Given the description of an element on the screen output the (x, y) to click on. 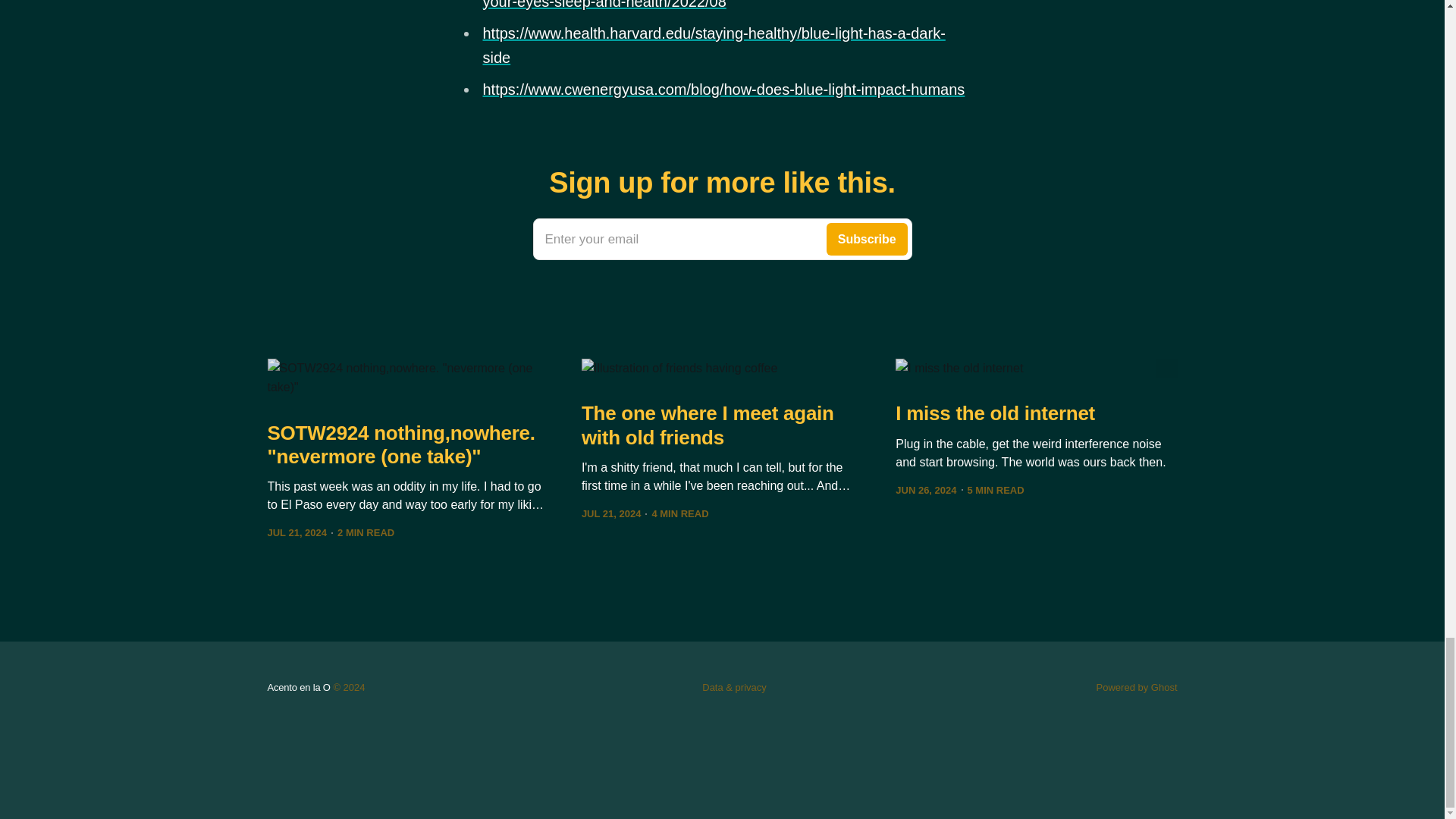
Acento en la O (298, 686)
Powered by Ghost (721, 239)
